Given the description of an element on the screen output the (x, y) to click on. 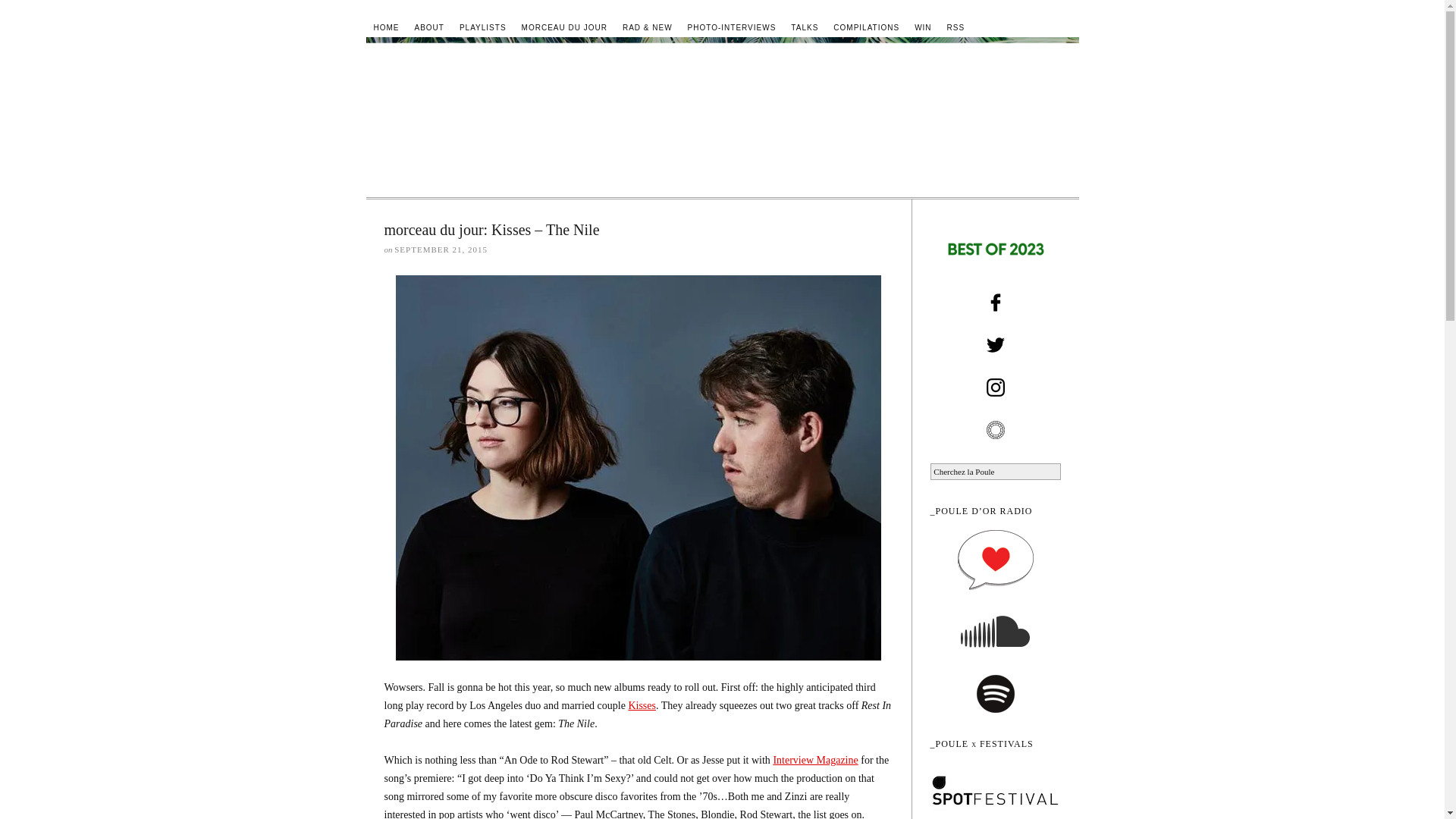
Kisses (641, 705)
HOME (385, 27)
COMPILATIONS (866, 27)
Interview Magazine (815, 759)
RSS (955, 27)
PHOTO-INTERVIEWS (731, 27)
2015-09-21 (440, 248)
TALKS (804, 27)
WIN (923, 27)
PLAYLISTS (482, 27)
